Given the description of an element on the screen output the (x, y) to click on. 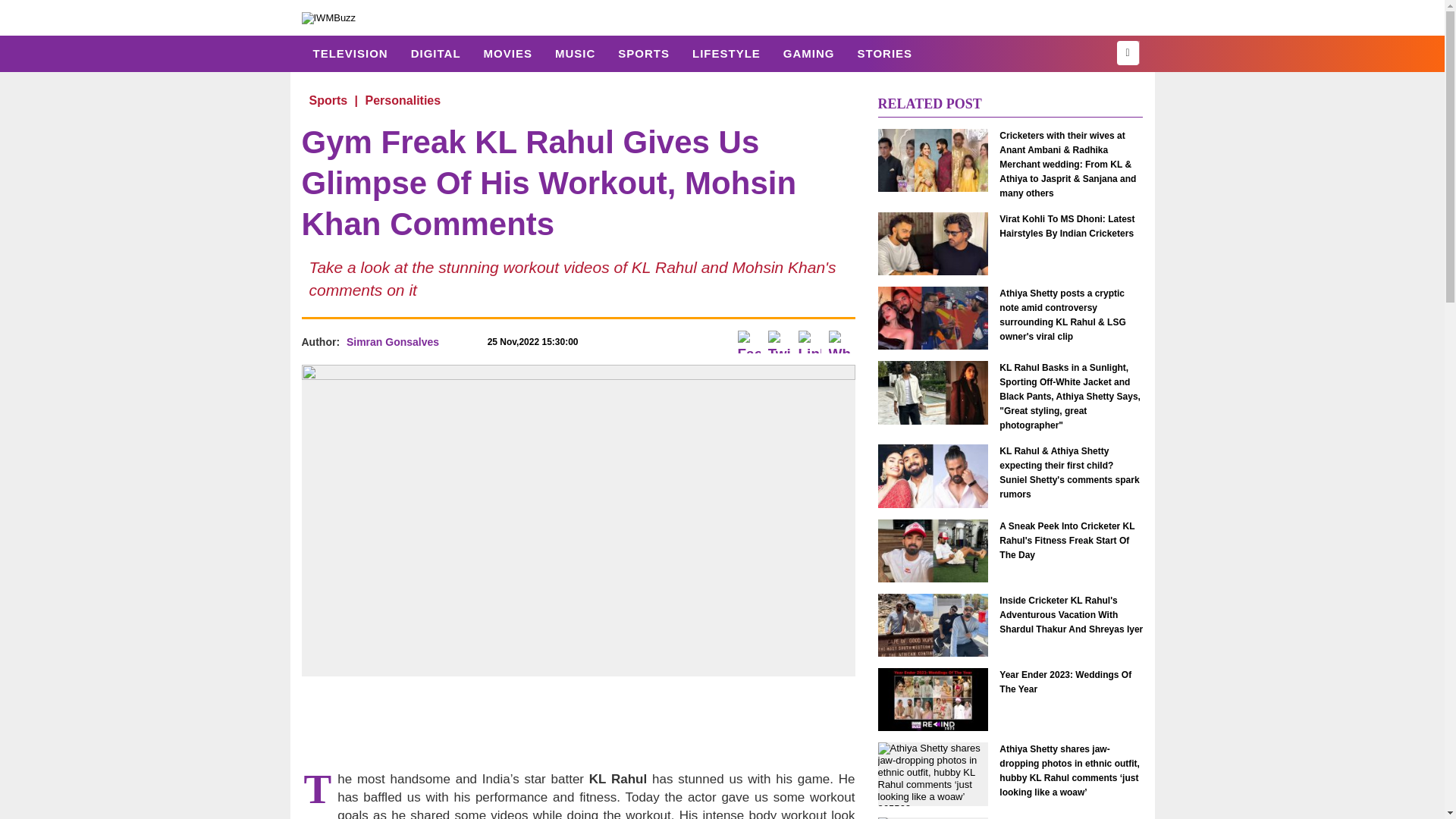
Sports (327, 100)
Digital (434, 53)
Year Ender 2023: Weddings Of The Year (1070, 682)
MUSIC (575, 53)
Television (349, 53)
Sports (644, 53)
Gaming (808, 53)
Movies (507, 53)
LIFESTYLE (726, 53)
